Given the description of an element on the screen output the (x, y) to click on. 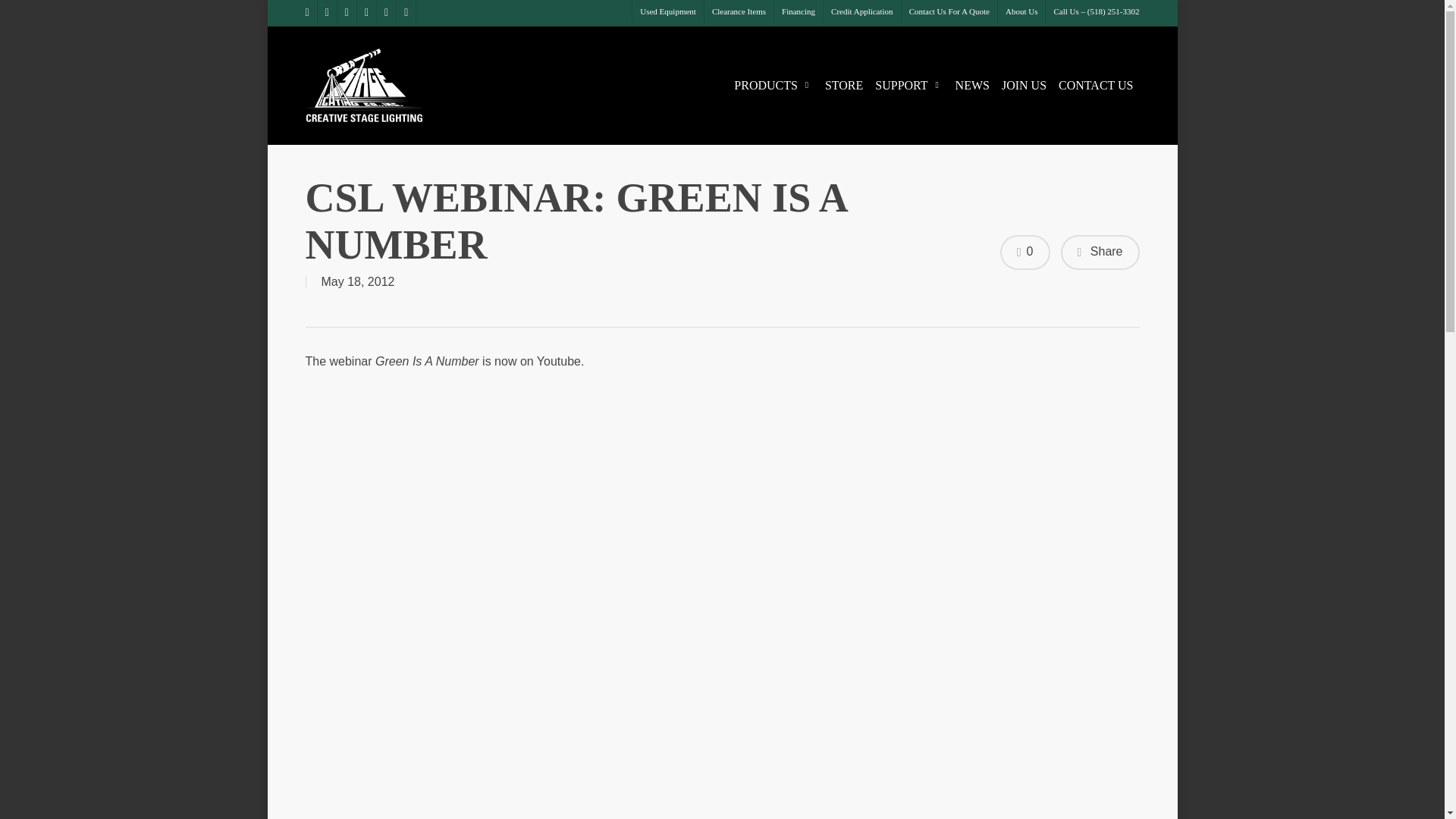
0 (1024, 252)
STORE (843, 85)
JOIN US (1023, 85)
Love this (1024, 252)
NEWS (972, 85)
Financing (797, 11)
Clearance Items (738, 11)
SUPPORT (909, 85)
Credit Application (861, 11)
PRODUCTS (773, 85)
CONTACT US (1095, 85)
About Us (1021, 11)
Contact Us For A Quote (949, 11)
Used Equipment (667, 11)
